Given the description of an element on the screen output the (x, y) to click on. 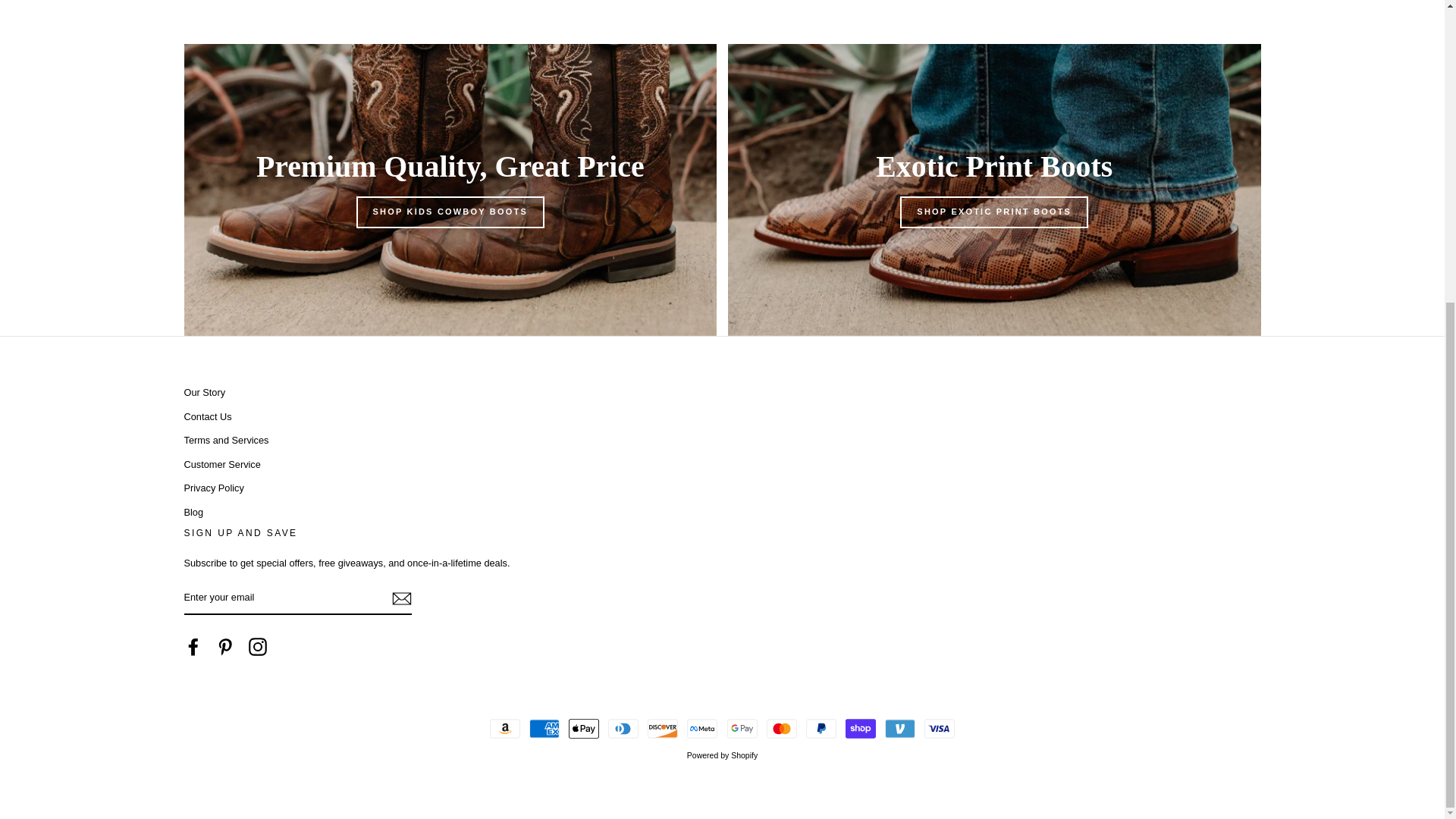
American Express (544, 728)
PayPal (820, 728)
Mastercard (781, 728)
Apple Pay (583, 728)
Shop Pay (860, 728)
Soto Boots on Instagram (257, 647)
Meta Pay (702, 728)
Google Pay (741, 728)
Discover (662, 728)
Amazon (504, 728)
Soto Boots on Facebook (192, 647)
Venmo (900, 728)
Diners Club (623, 728)
Soto Boots on Pinterest (224, 647)
